Given the description of an element on the screen output the (x, y) to click on. 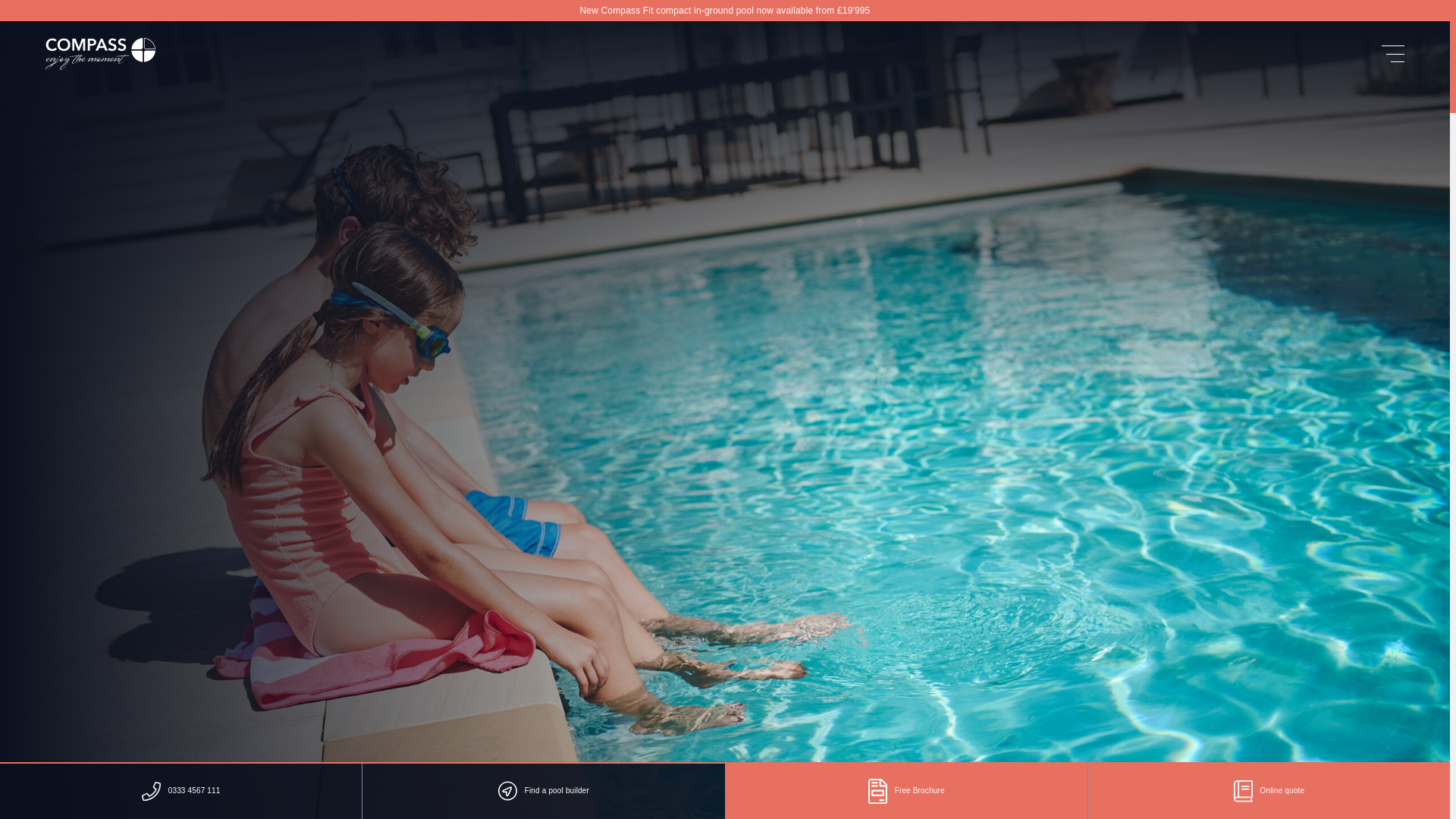
MEMBERS OF THE SWIMMING POOL AND ALLIED TRADES ASSOCIATION (277, 542)
0333 4567 111 (122, 586)
Pinterest (107, 649)
0333 4567 111 (180, 790)
Manage Cookies (176, 701)
Privacy Policy (102, 701)
Facebook (109, 617)
